Given the description of an element on the screen output the (x, y) to click on. 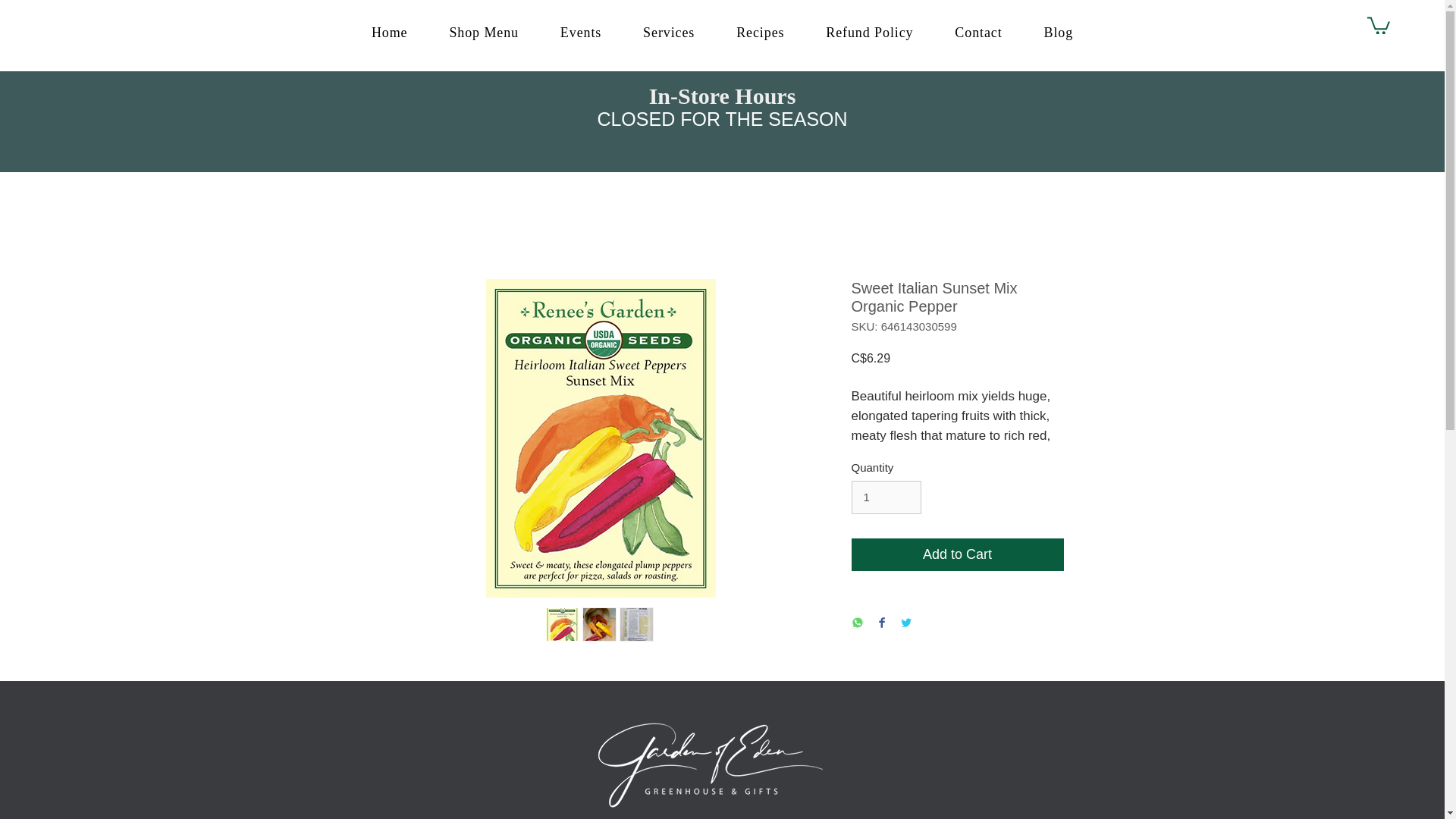
Contact (978, 32)
1 (885, 497)
Refund Policy (869, 32)
Shop Menu (483, 32)
Services (669, 32)
Home (389, 32)
Add to Cart (956, 554)
Recipes (760, 32)
Events (579, 32)
Blog (1058, 32)
